Given the description of an element on the screen output the (x, y) to click on. 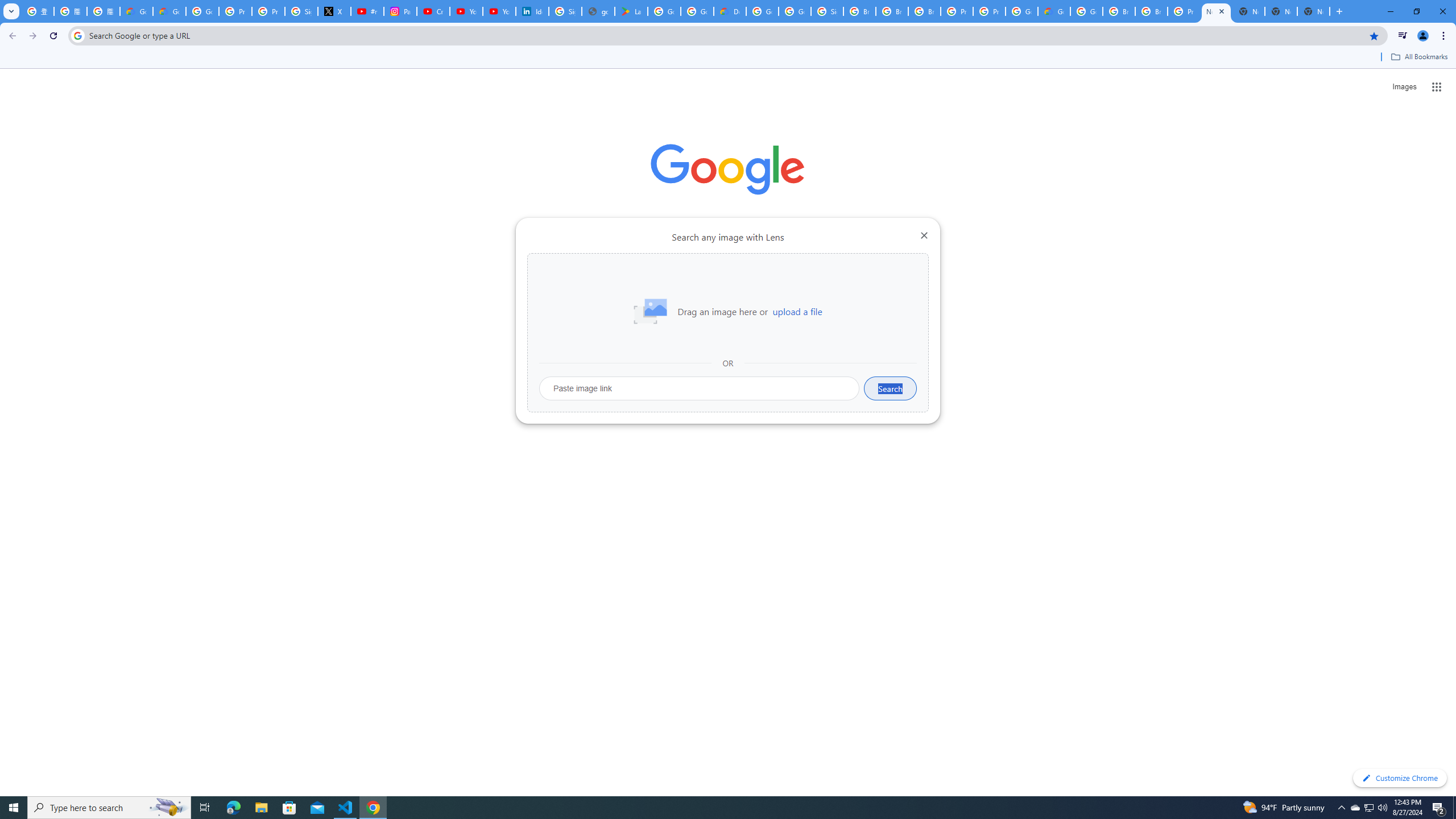
New Tab (1216, 11)
Google Cloud Platform (1086, 11)
Privacy Help Center - Policies Help (268, 11)
Browse Chrome as a guest - Computer - Google Chrome Help (859, 11)
Sign in - Google Accounts (827, 11)
